Given the description of an element on the screen output the (x, y) to click on. 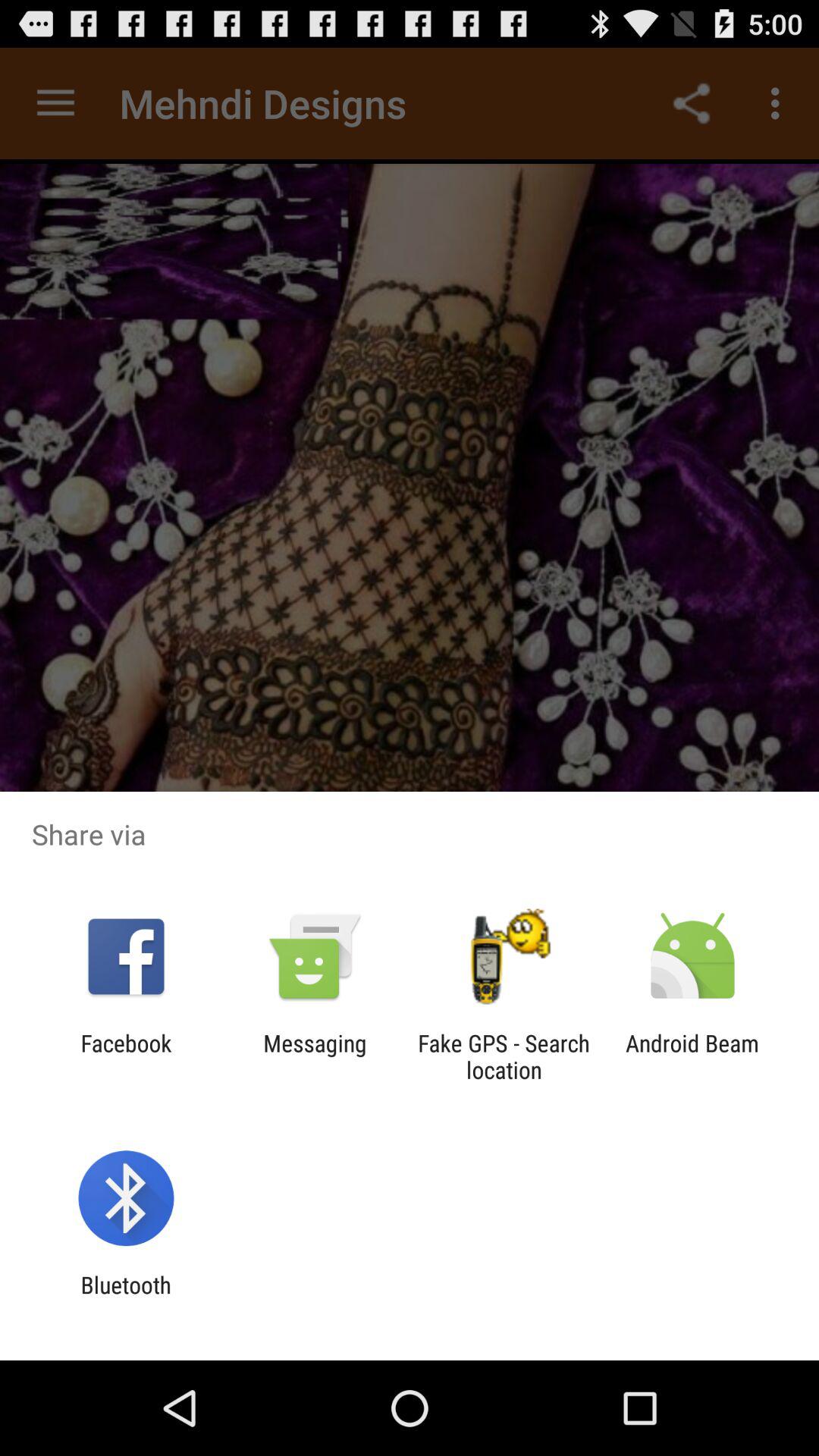
flip until the bluetooth (125, 1298)
